Given the description of an element on the screen output the (x, y) to click on. 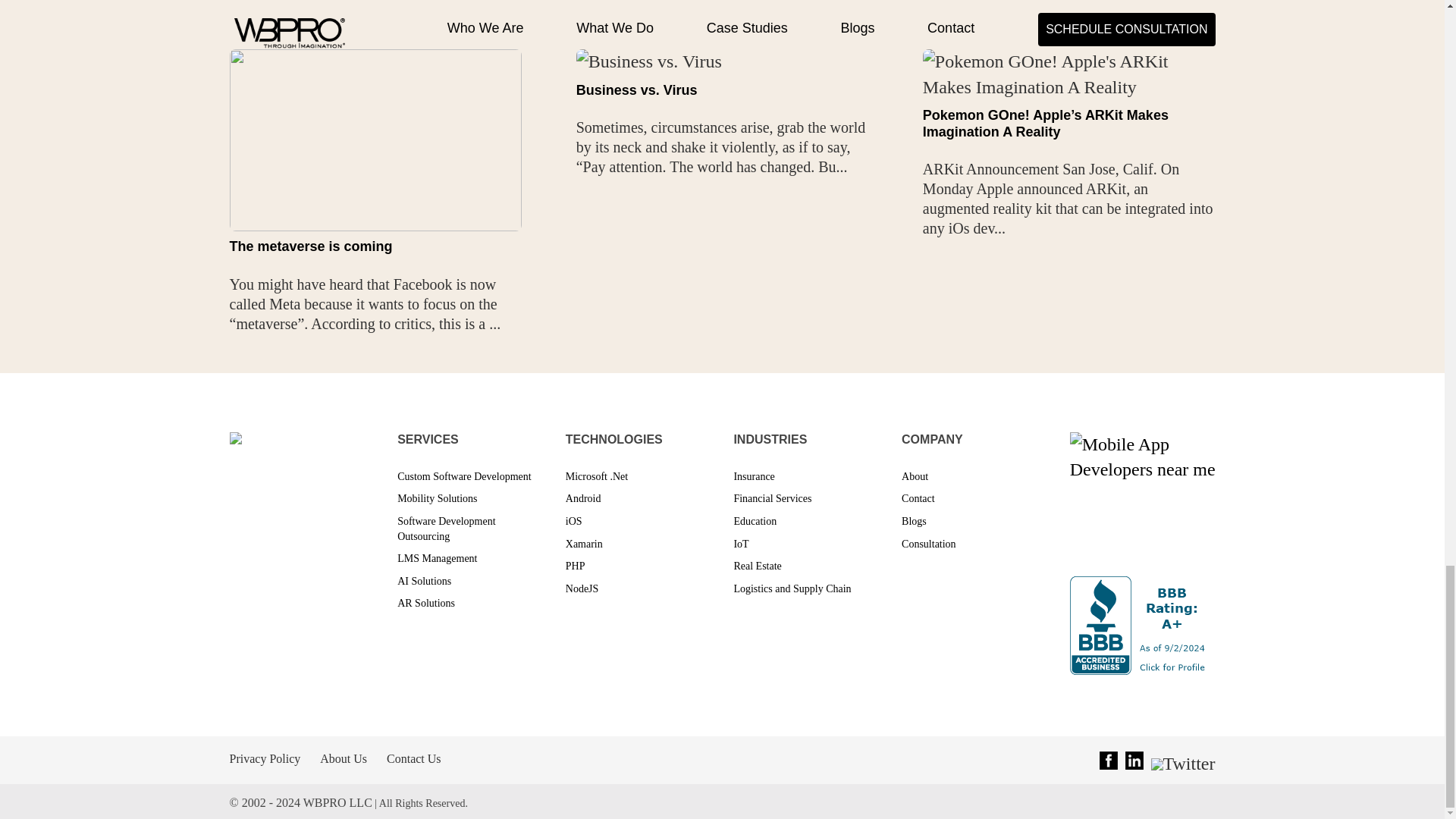
iOS (574, 521)
Android (583, 498)
LMS Management (437, 558)
AI Solutions (424, 581)
Mobility Solutions (437, 498)
Custom Software Development (464, 476)
Software Development Outsourcing (446, 528)
Facebook (1108, 760)
Business vs. Virus (636, 89)
